Given the description of an element on the screen output the (x, y) to click on. 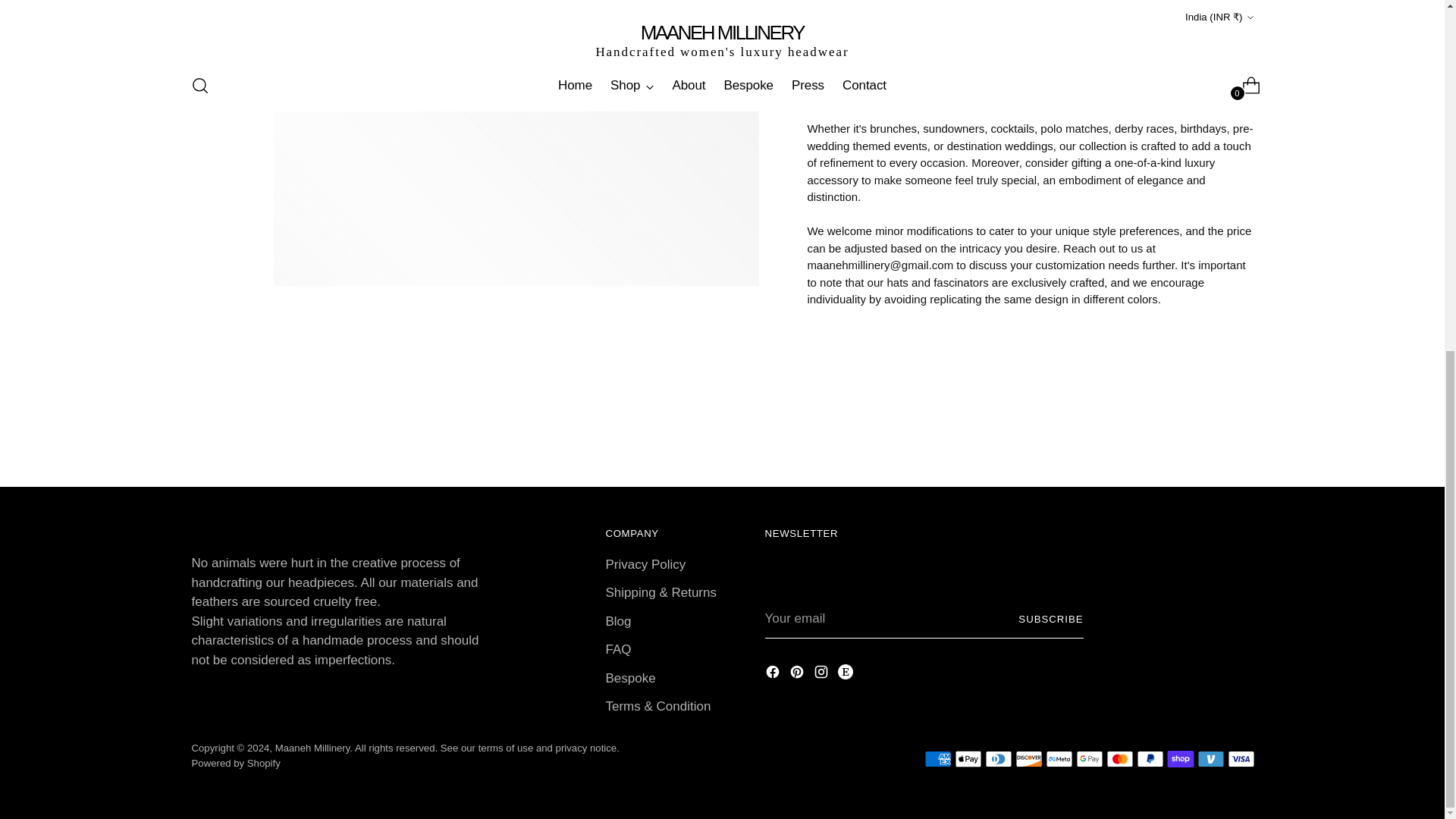
Maaneh Millinery on Instagram (821, 674)
Maaneh Millinery on  (846, 674)
Down (220, 98)
Maaneh Millinery on Pinterest (797, 674)
Maaneh Millinery on Facebook (773, 674)
